Given the description of an element on the screen output the (x, y) to click on. 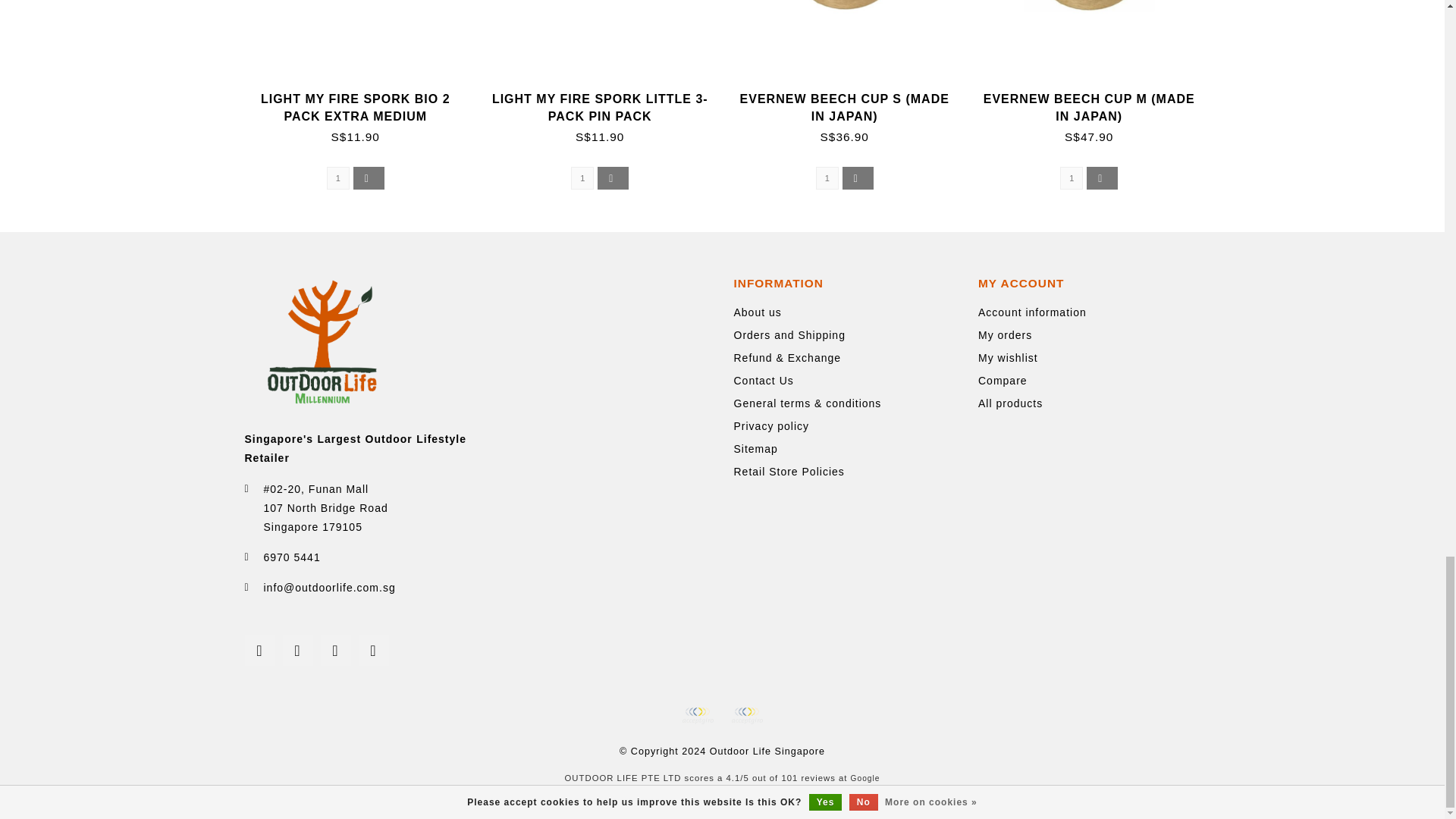
1 (337, 178)
Light My Fire Spork Bio 2 Pack Extra Medium (366, 46)
1 (582, 178)
Light My Fire Spork Little 3-Pack Pin Pack (611, 46)
Light My Fire Spork Little 3-Pack Pin Pack (599, 107)
1 (1071, 178)
Light My Fire Spork Bio 2 Pack Extra Medium (354, 107)
1 (826, 178)
